Given the description of an element on the screen output the (x, y) to click on. 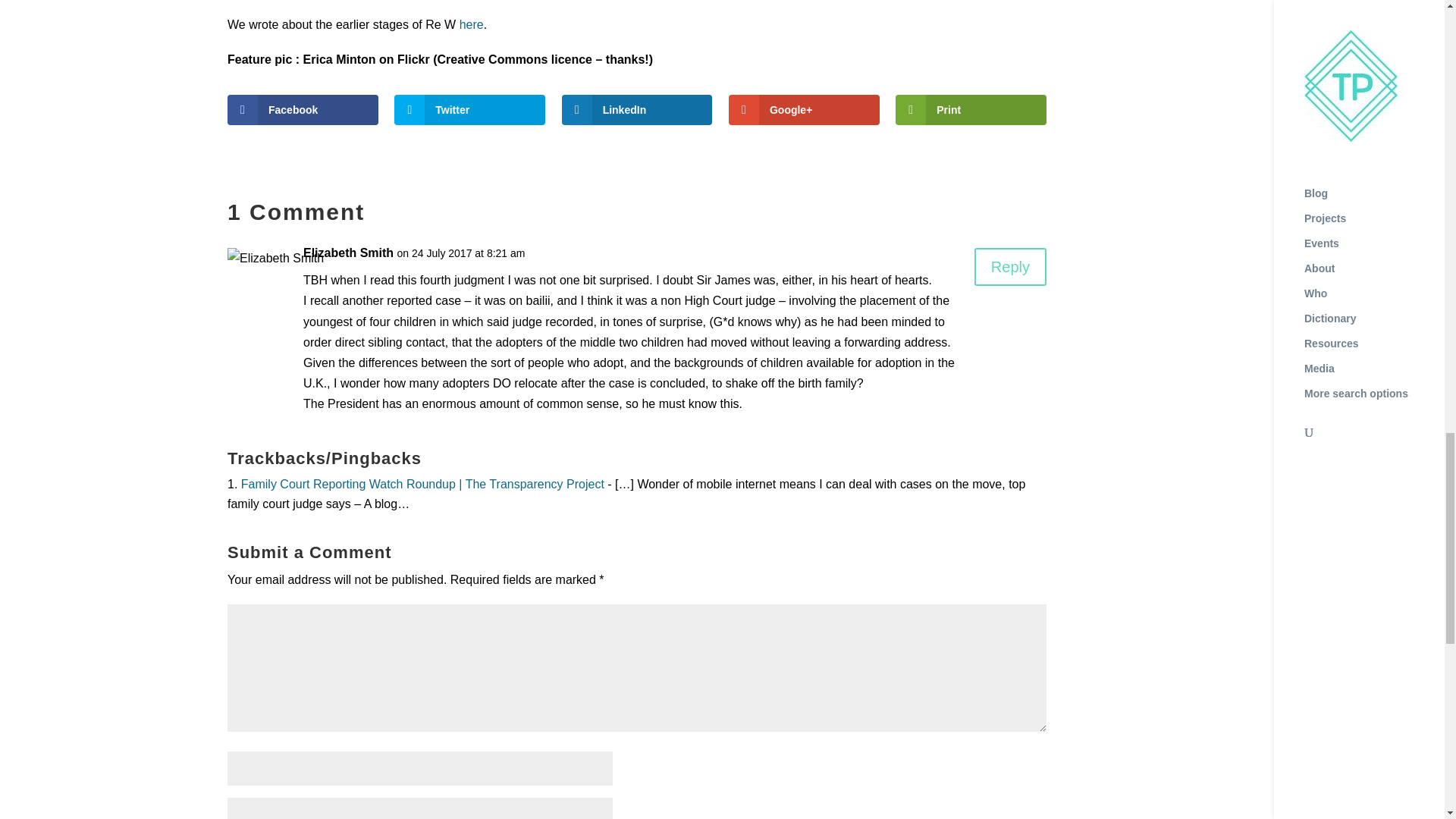
Facebook (302, 110)
Reply (1010, 266)
Print (970, 110)
Twitter (469, 110)
here (471, 24)
LinkedIn (637, 110)
